Given the description of an element on the screen output the (x, y) to click on. 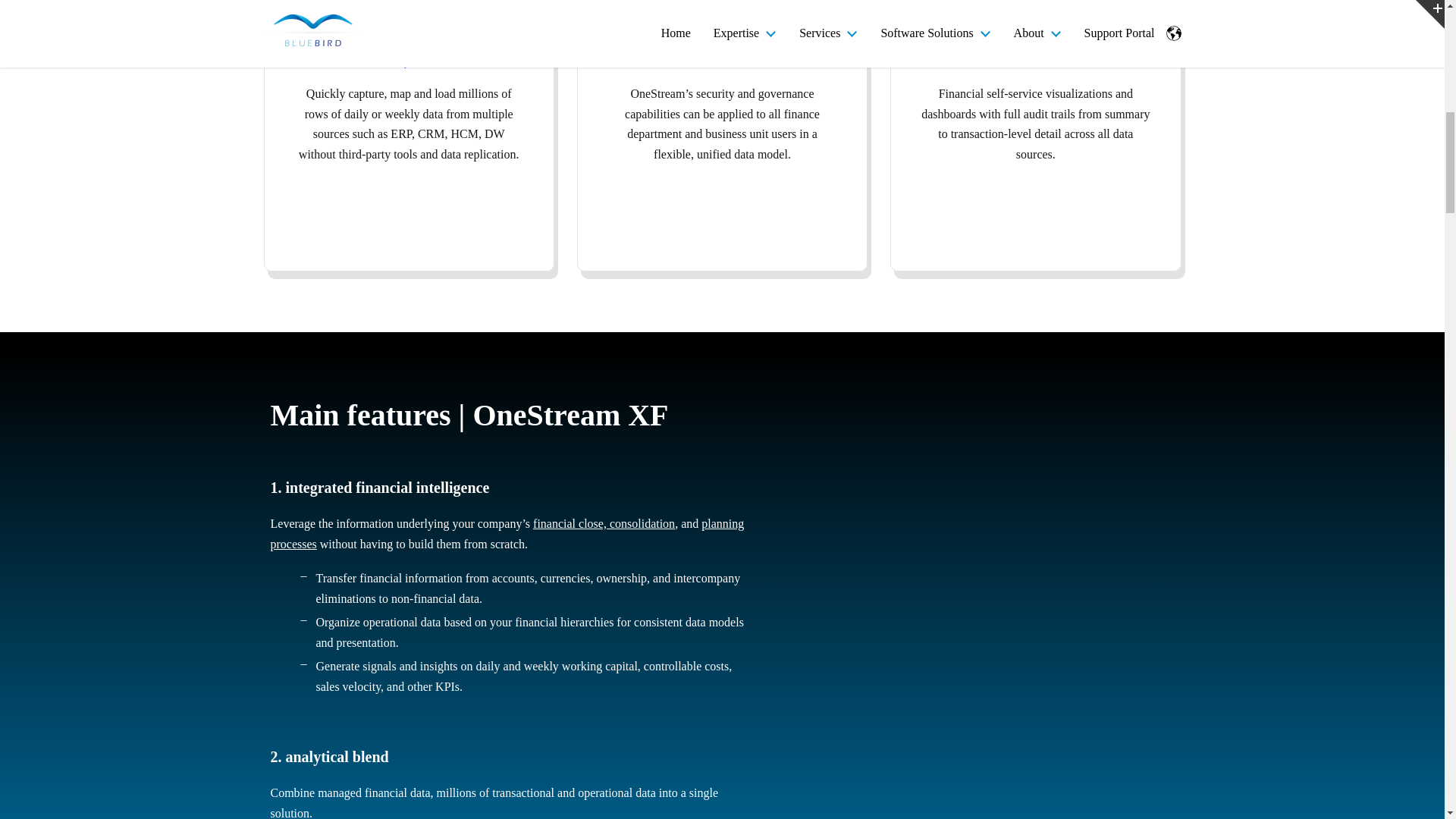
YouTube video player (981, 750)
